Given the description of an element on the screen output the (x, y) to click on. 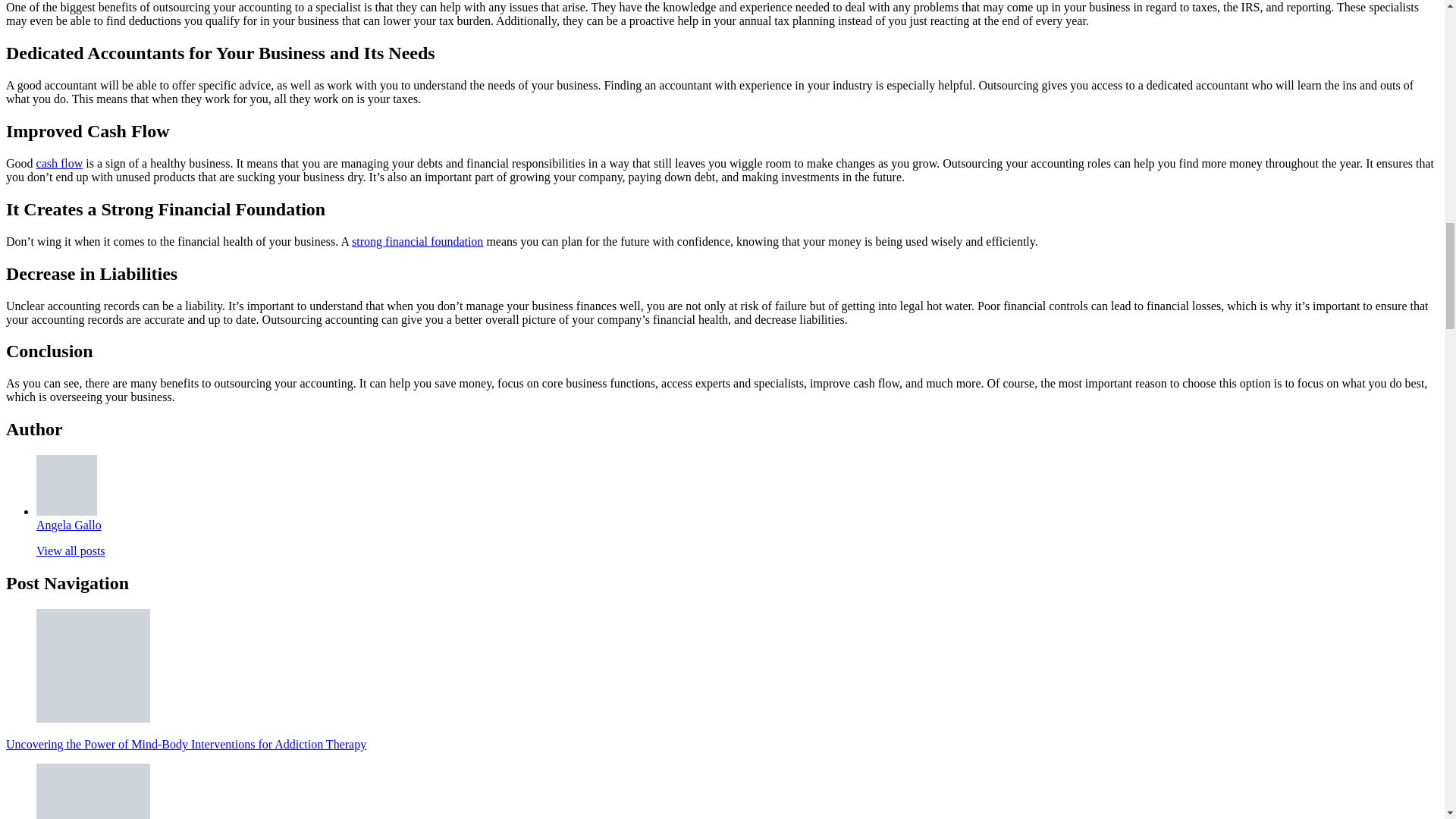
cash flow (59, 163)
Angela Gallo (68, 524)
View all posts (70, 550)
View all posts (70, 550)
strong financial foundation (417, 241)
Angela Gallo (68, 524)
